Given the description of an element on the screen output the (x, y) to click on. 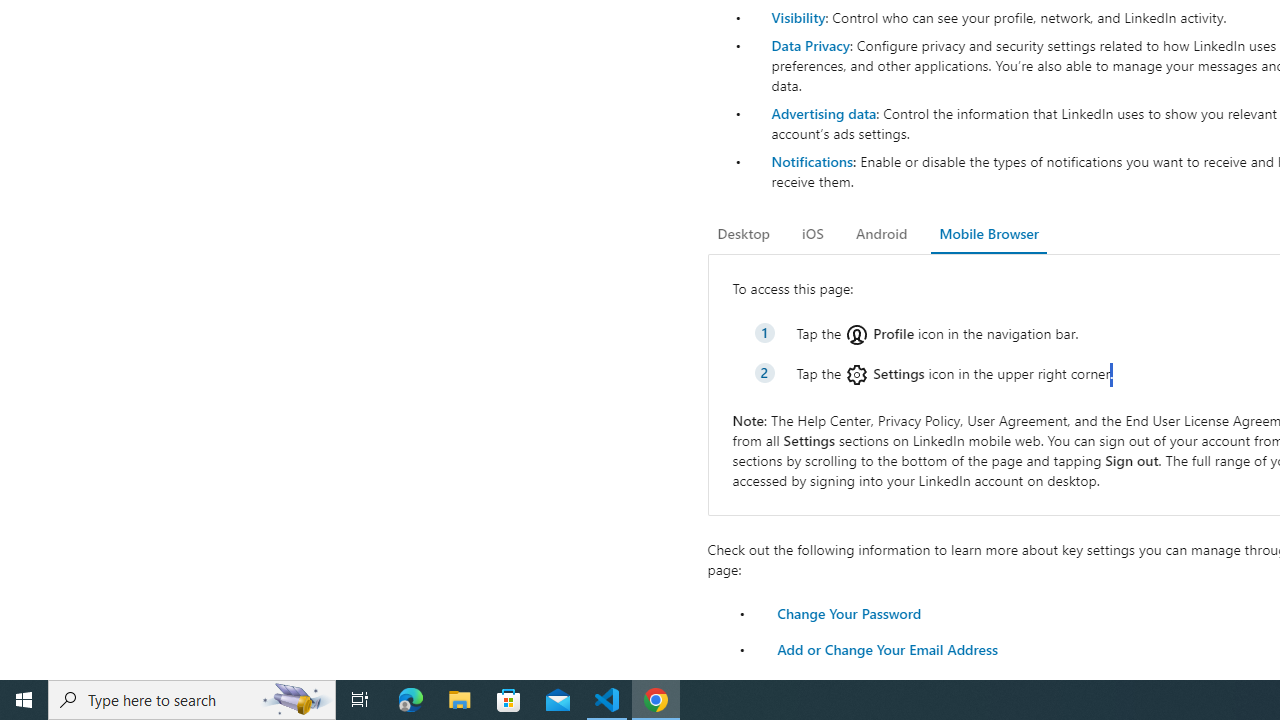
Android (881, 234)
Data Privacy (809, 44)
Add and Remove Mobile Phone Numbers (908, 684)
Notifications (811, 161)
Desktop (744, 234)
Change Your Password (848, 612)
Mobile Browser (988, 234)
Advertising data (823, 112)
Visibility (797, 17)
iOS (812, 234)
Add or Change Your Email Address (887, 648)
